Given the description of an element on the screen output the (x, y) to click on. 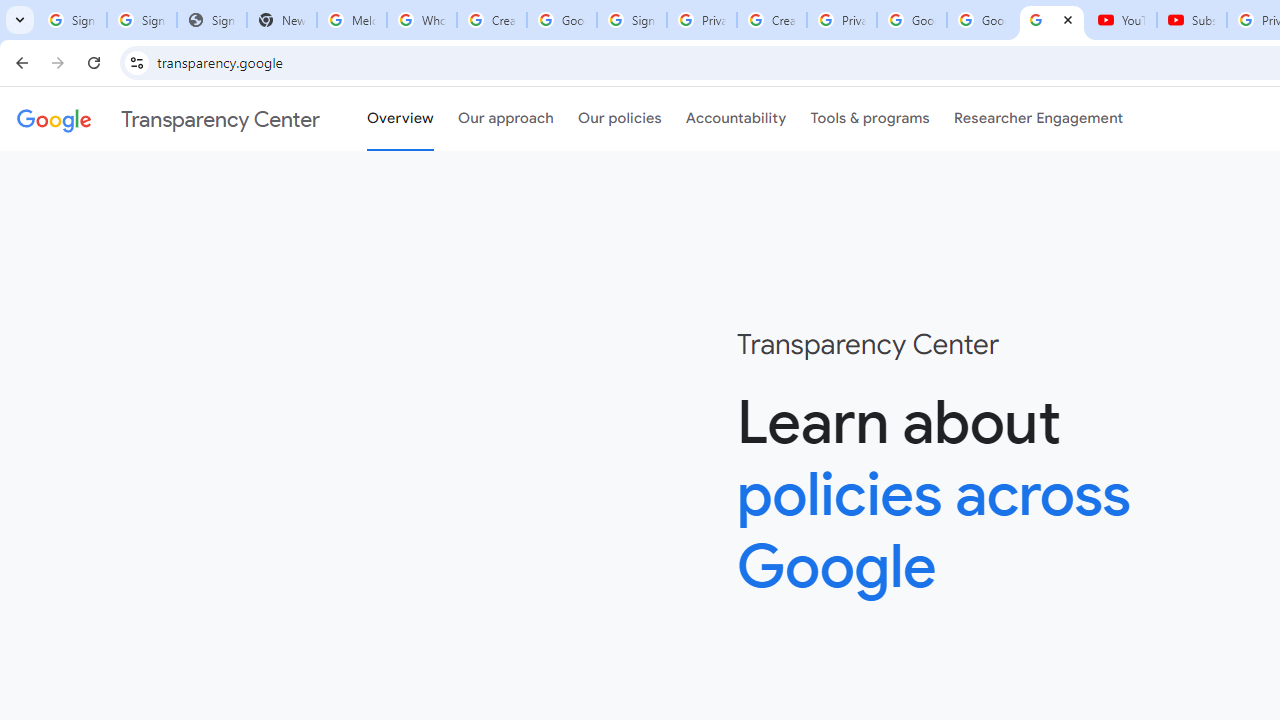
Sign in - Google Accounts (141, 20)
Who is my administrator? - Google Account Help (421, 20)
